Given the description of an element on the screen output the (x, y) to click on. 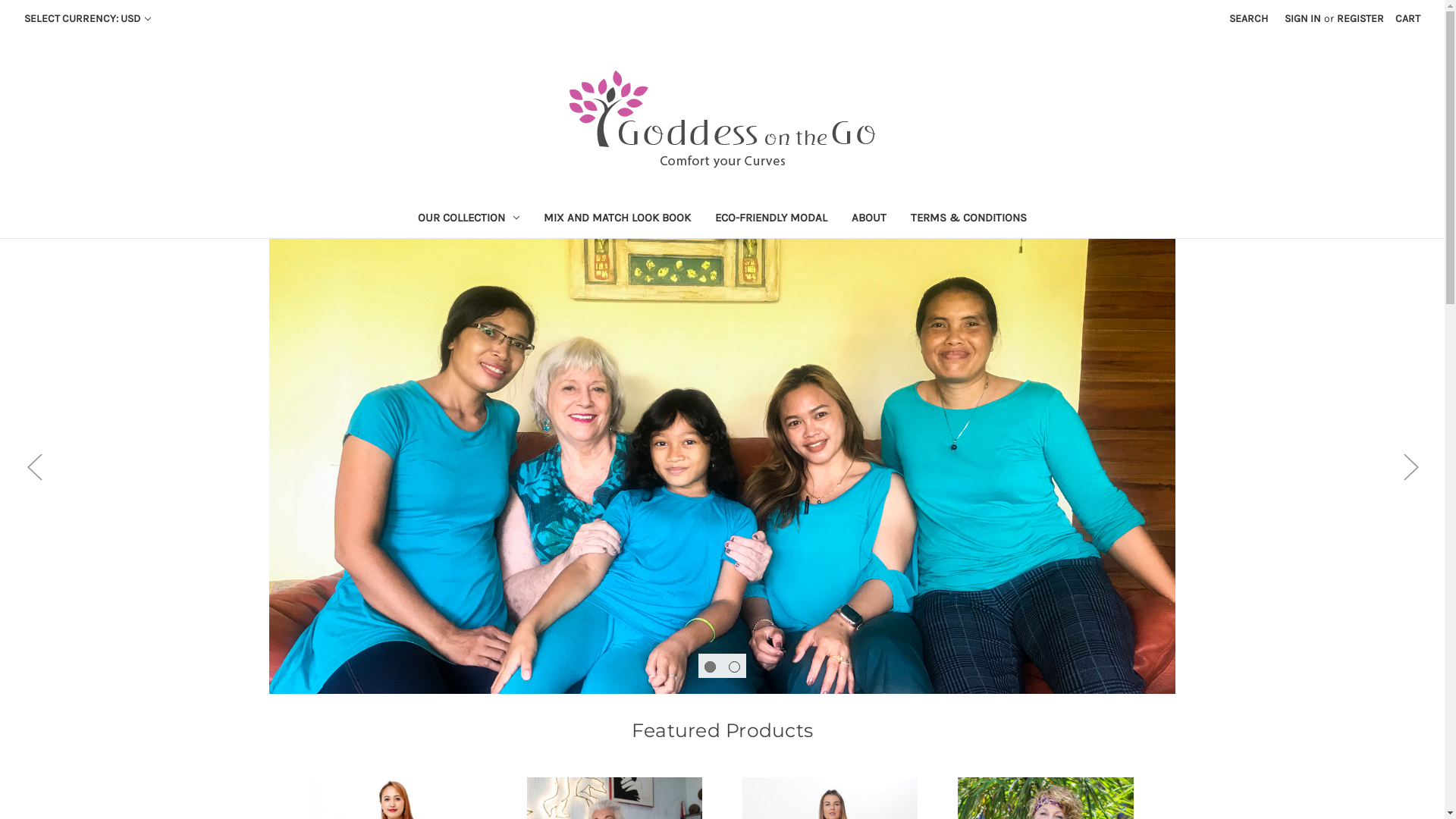
1 Element type: text (709, 666)
Goddess on the Go Element type: hover (721, 119)
MIX AND MATCH LOOK BOOK Element type: text (616, 219)
CART Element type: text (1407, 18)
REGISTER Element type: text (1360, 18)
Previous Element type: text (33, 466)
2 Element type: text (734, 666)
SEARCH Element type: text (1248, 18)
SELECT CURRENCY: USD Element type: text (87, 18)
Next Element type: text (1410, 466)
TERMS & CONDITIONS Element type: text (968, 219)
ABOUT Element type: text (868, 219)
OUR COLLECTION Element type: text (468, 219)
ECO-FRIENDLY MODAL Element type: text (770, 219)
SIGN IN Element type: text (1302, 18)
